Given the description of an element on the screen output the (x, y) to click on. 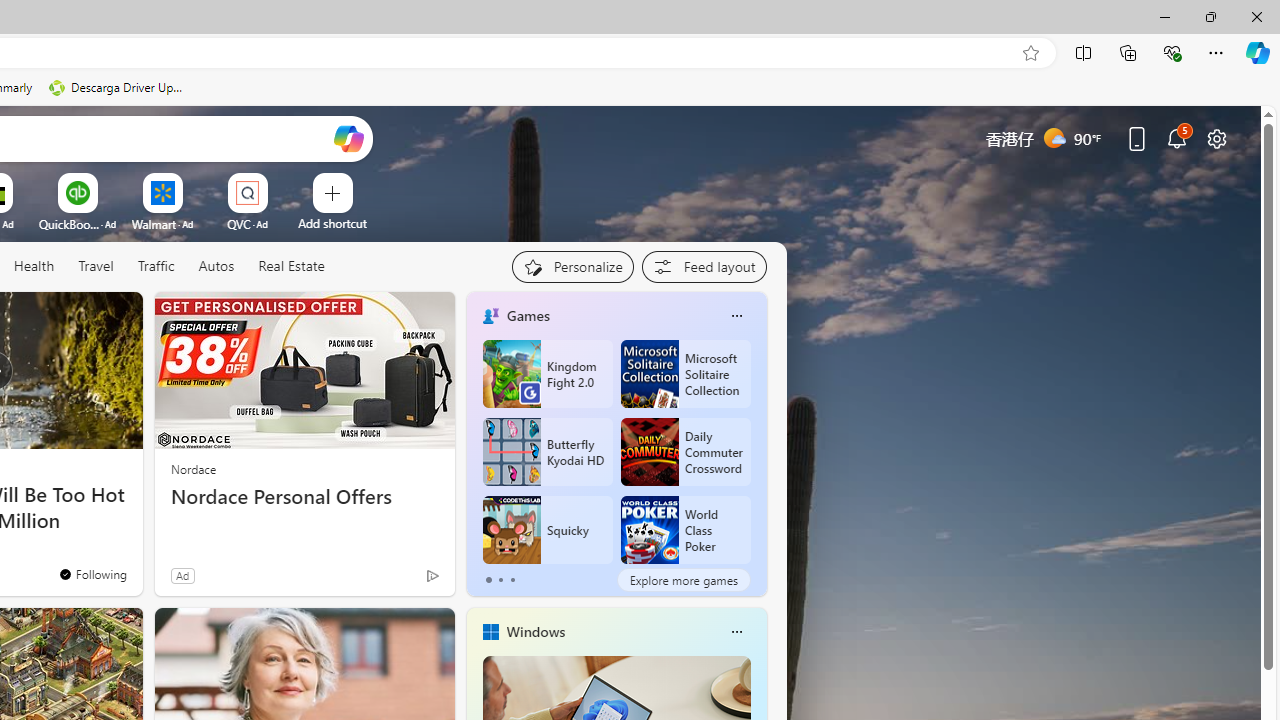
Add this page to favorites (Ctrl+D) (1030, 53)
Class: sd-card-game-item-img-inner (648, 529)
Descarga Driver Updater (118, 88)
Copilot (Ctrl+Shift+.) (1258, 52)
Ad (182, 575)
Autos (215, 265)
Nordace (193, 468)
tab-0 (488, 579)
Feed settings (703, 266)
Browser essentials (1171, 52)
Notifications (1176, 138)
Travel (95, 265)
Ad Choice (432, 575)
